Given the description of an element on the screen output the (x, y) to click on. 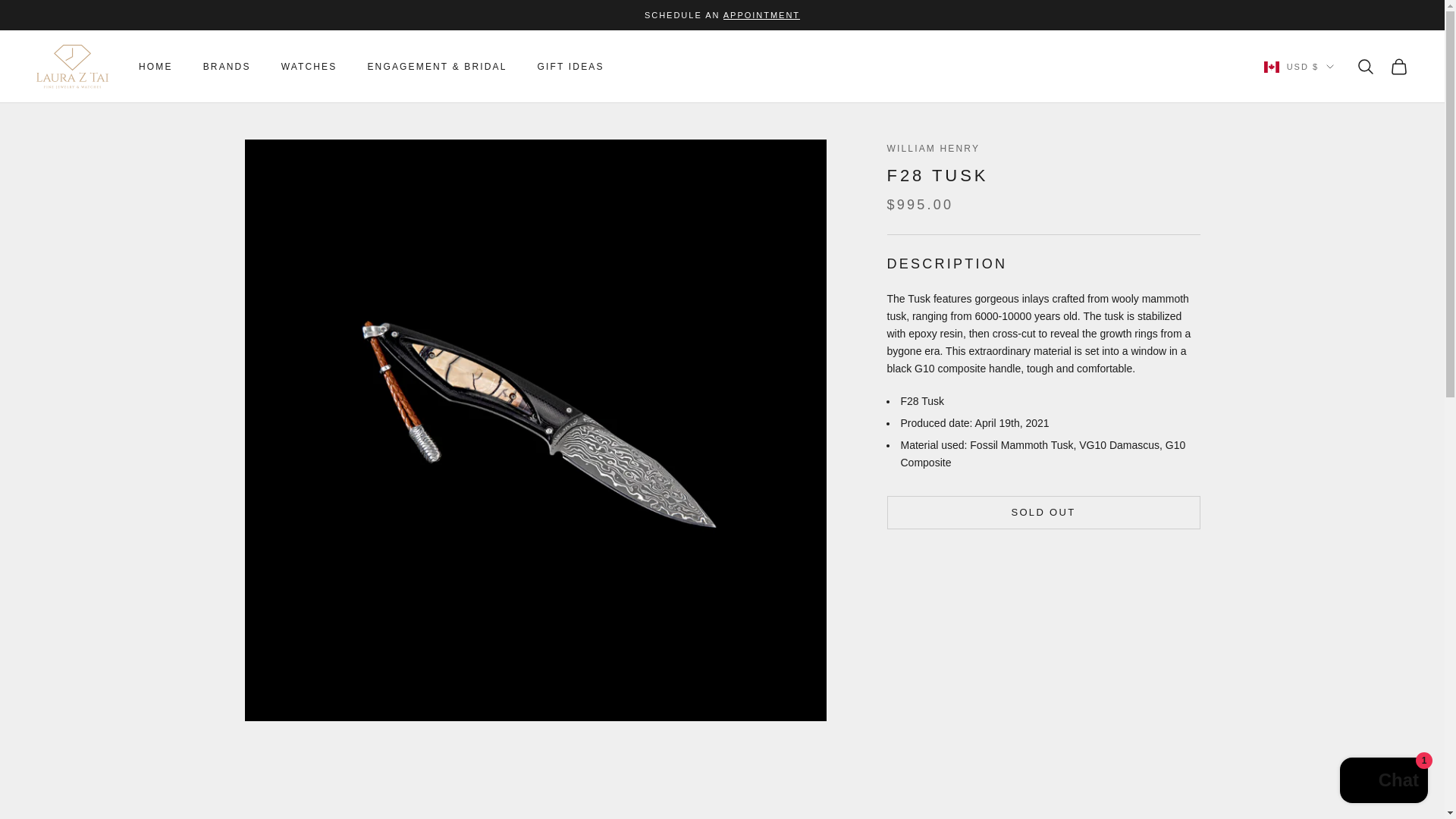
Shopify online store chat (1383, 781)
HOME (155, 66)
Request an appointment (761, 14)
APPOINTMENT (761, 14)
Laura Z Tai - Jewelry Store in Lancaster, PA (71, 66)
